Given the description of an element on the screen output the (x, y) to click on. 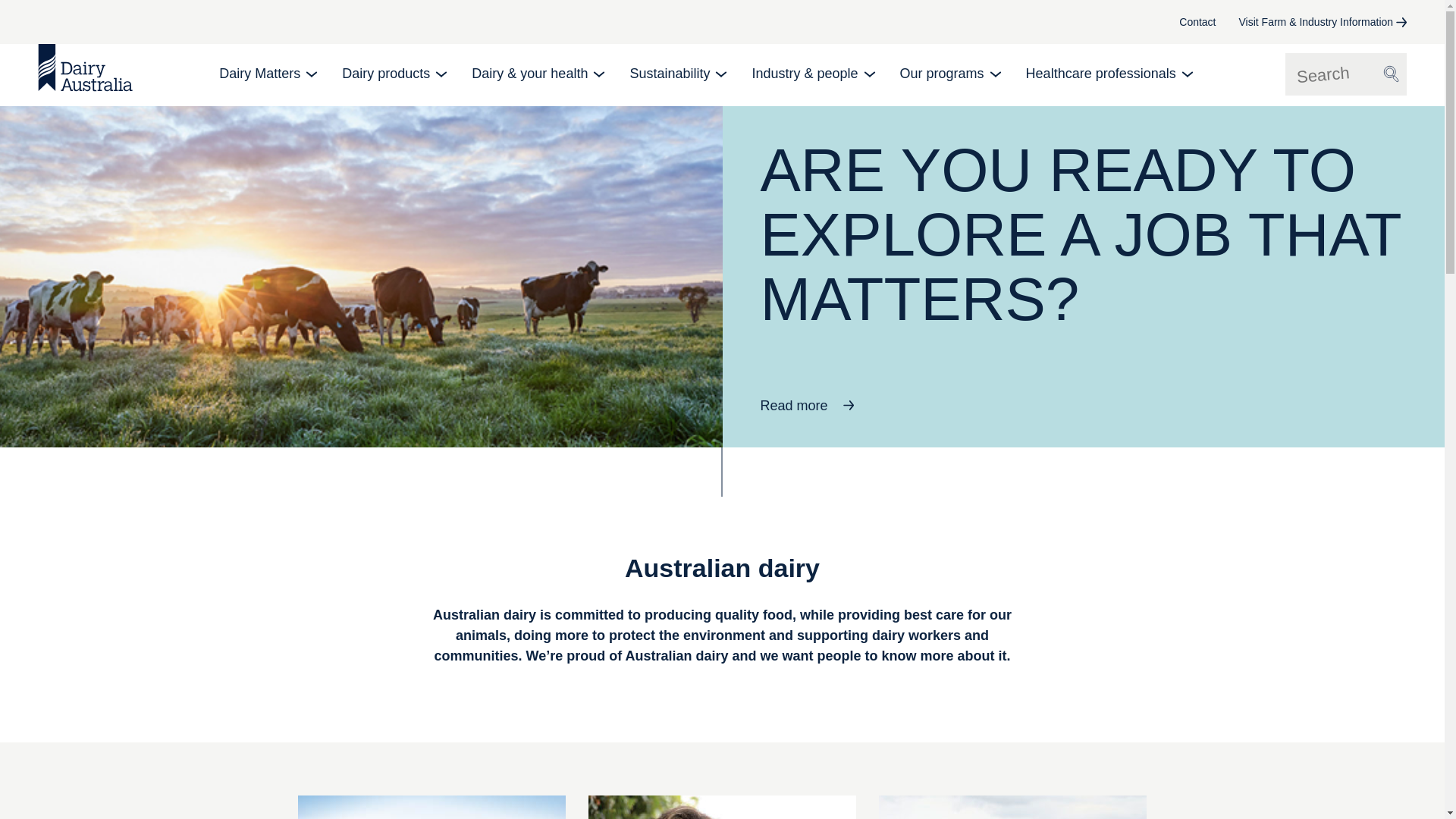
Sustainability (676, 73)
Dairy Matters (267, 73)
Contact (1197, 21)
Dairy products (393, 73)
Our programs (949, 73)
